Given the description of an element on the screen output the (x, y) to click on. 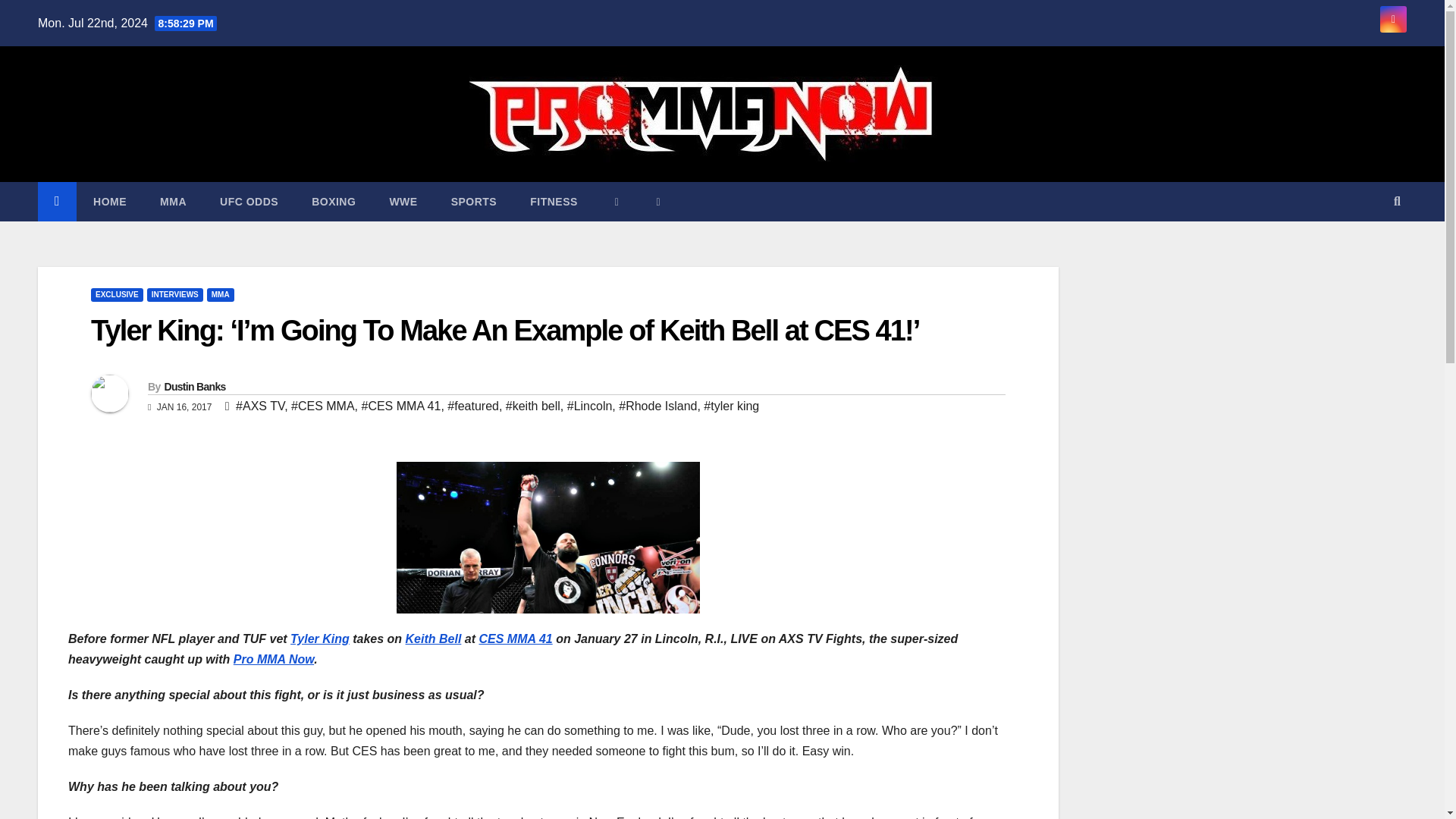
MMA (172, 201)
Sports (473, 201)
SPORTS (473, 201)
Dustin Banks (194, 386)
Pro MMA Now (273, 658)
INTERVIEWS (175, 295)
MMA (172, 201)
Tyler King (319, 638)
CES MMA 41 (515, 638)
FITNESS (553, 201)
UFC Odds (249, 201)
MMA (220, 295)
WWE (402, 201)
Keith Bell (433, 638)
Boxing (333, 201)
